Given the description of an element on the screen output the (x, y) to click on. 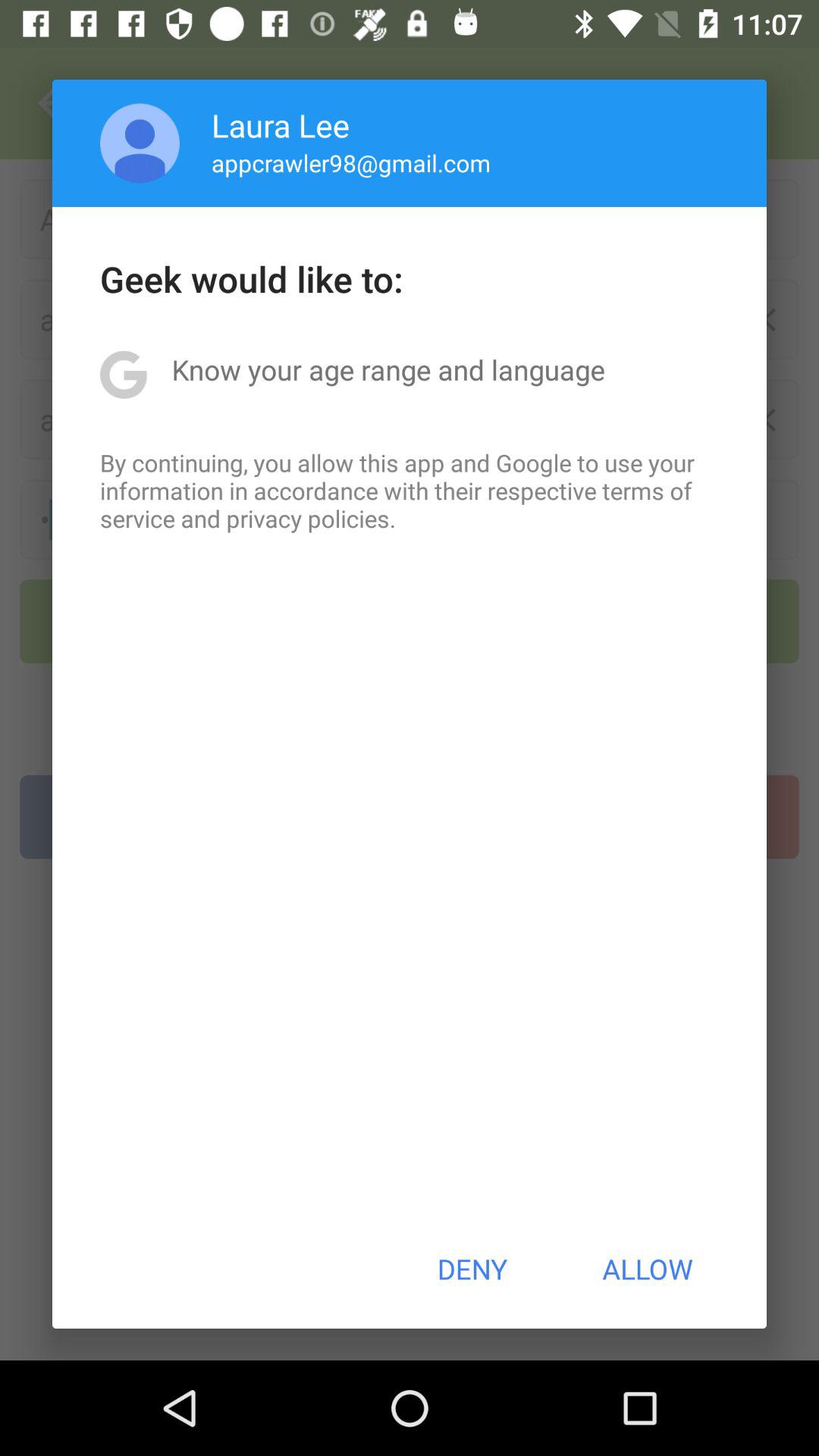
turn off item above the geek would like app (139, 143)
